Given the description of an element on the screen output the (x, y) to click on. 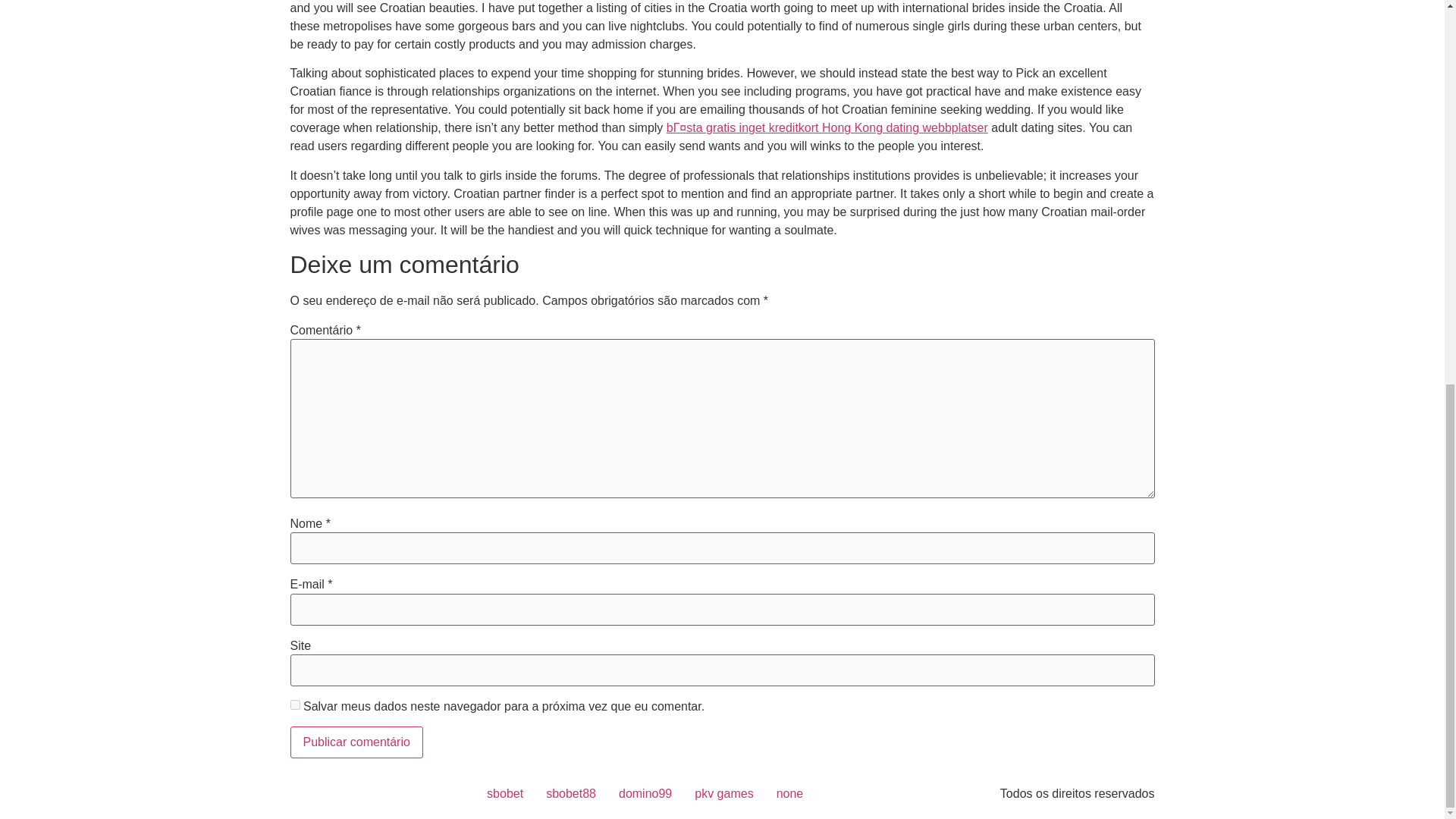
domino99 (644, 793)
sbobet88 (570, 793)
yes (294, 705)
pkv games (723, 793)
none (790, 793)
sbobet (505, 793)
